Given the description of an element on the screen output the (x, y) to click on. 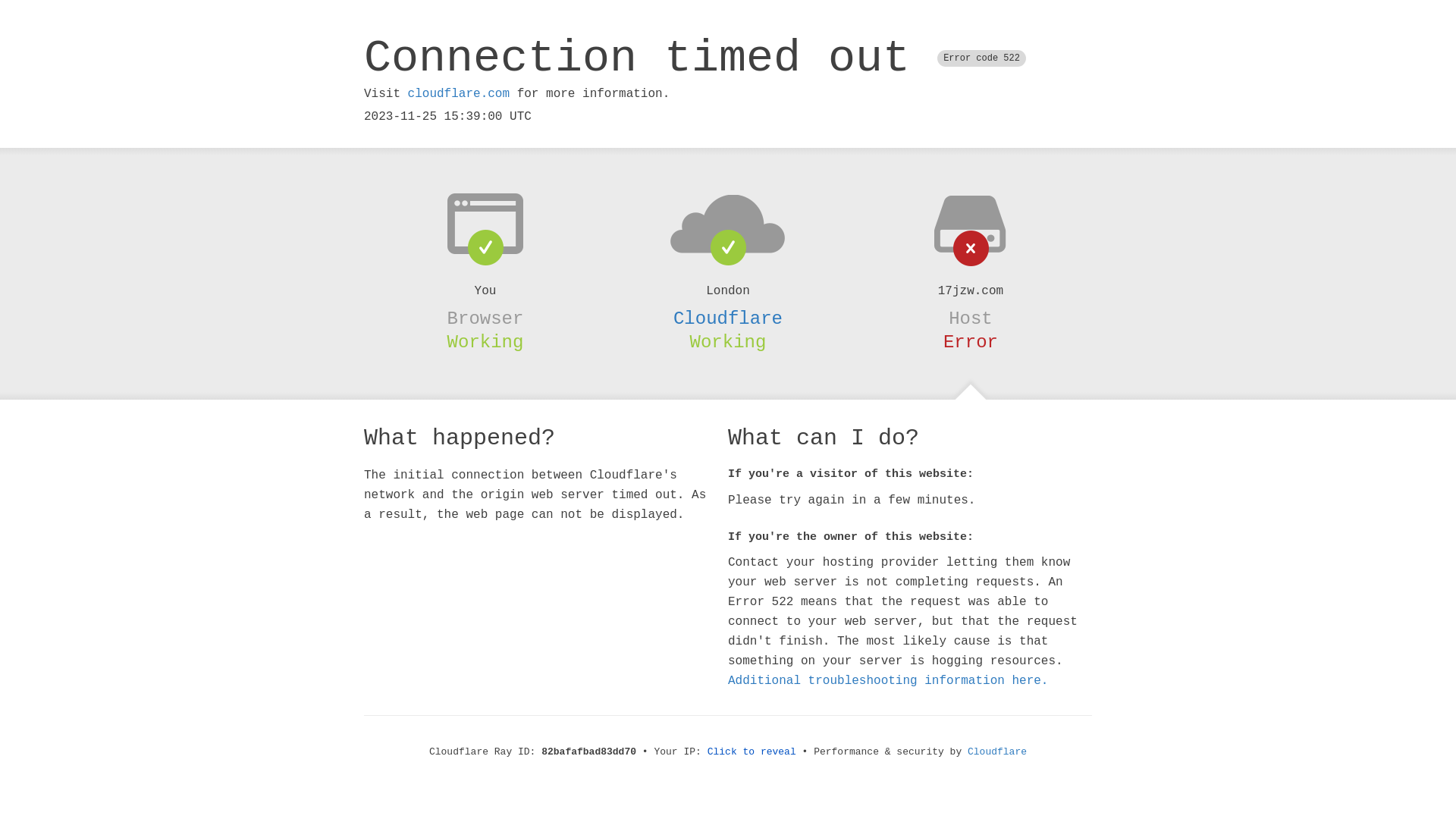
Cloudflare Element type: text (727, 318)
Additional troubleshooting information here. Element type: text (888, 680)
Cloudflare Element type: text (996, 751)
cloudflare.com Element type: text (458, 93)
Click to reveal Element type: text (751, 751)
